Given the description of an element on the screen output the (x, y) to click on. 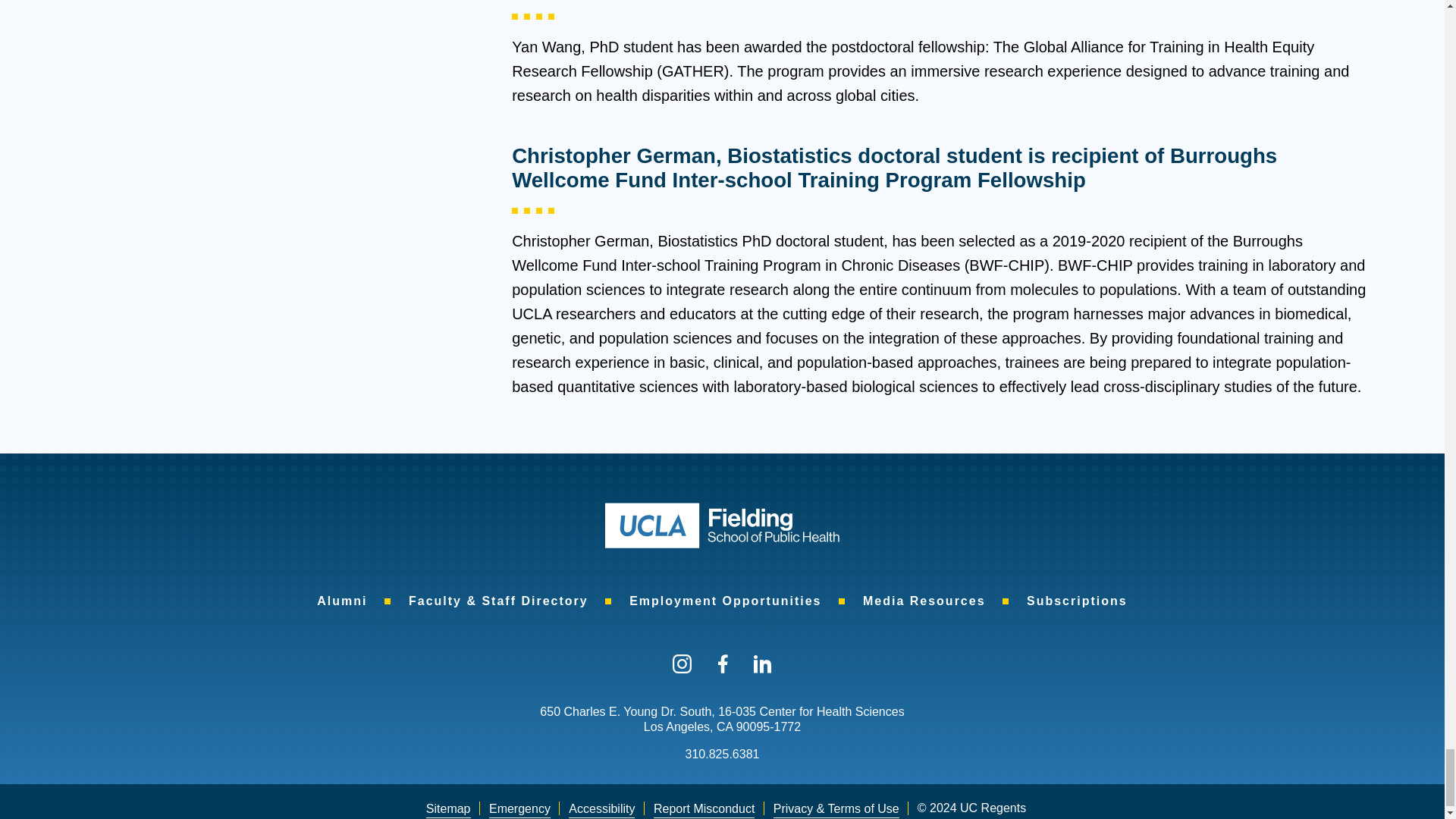
California (724, 726)
